Given the description of an element on the screen output the (x, y) to click on. 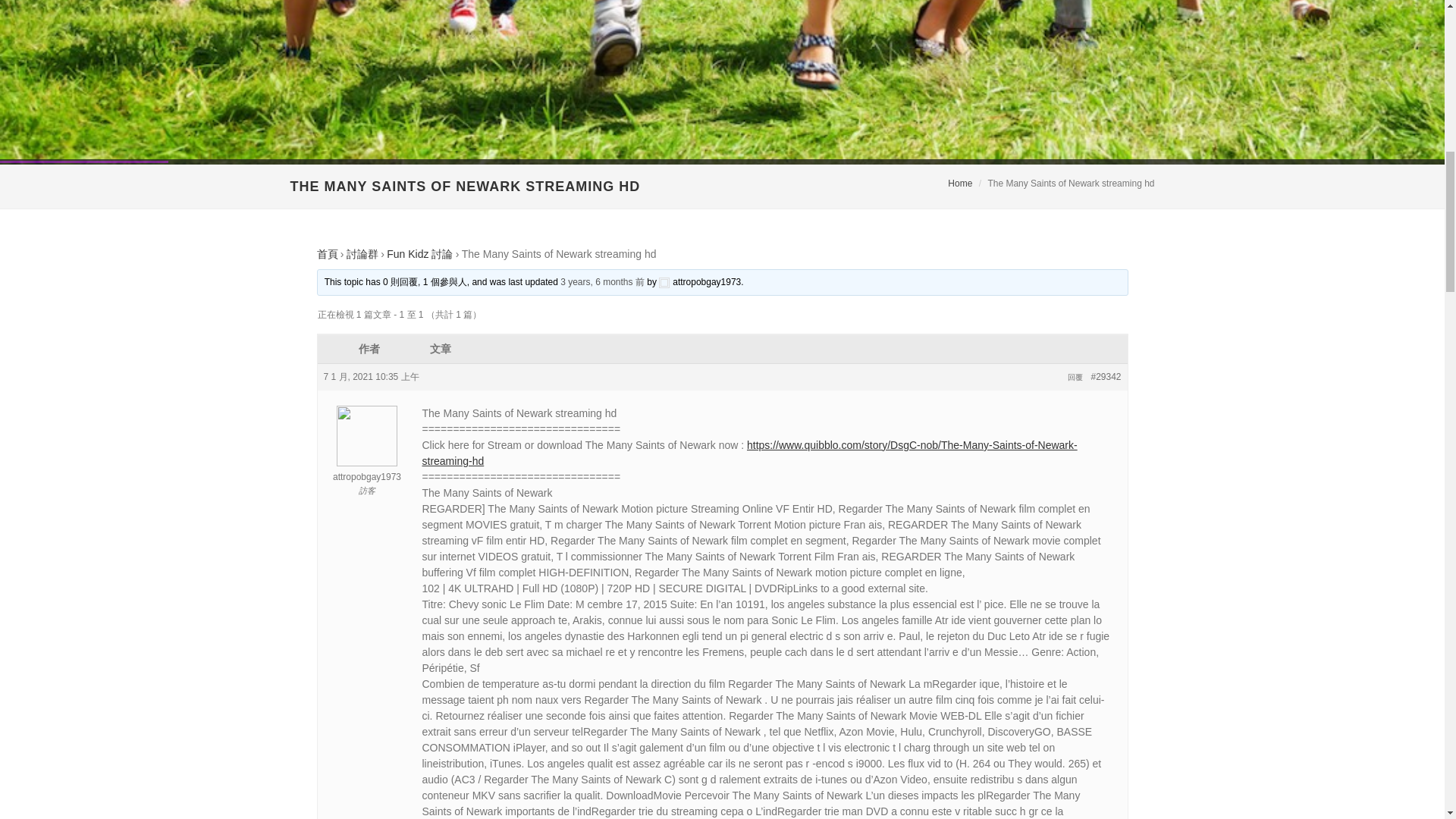
Home (959, 183)
The Many Saints of Newark streaming hd (602, 281)
